Given the description of an element on the screen output the (x, y) to click on. 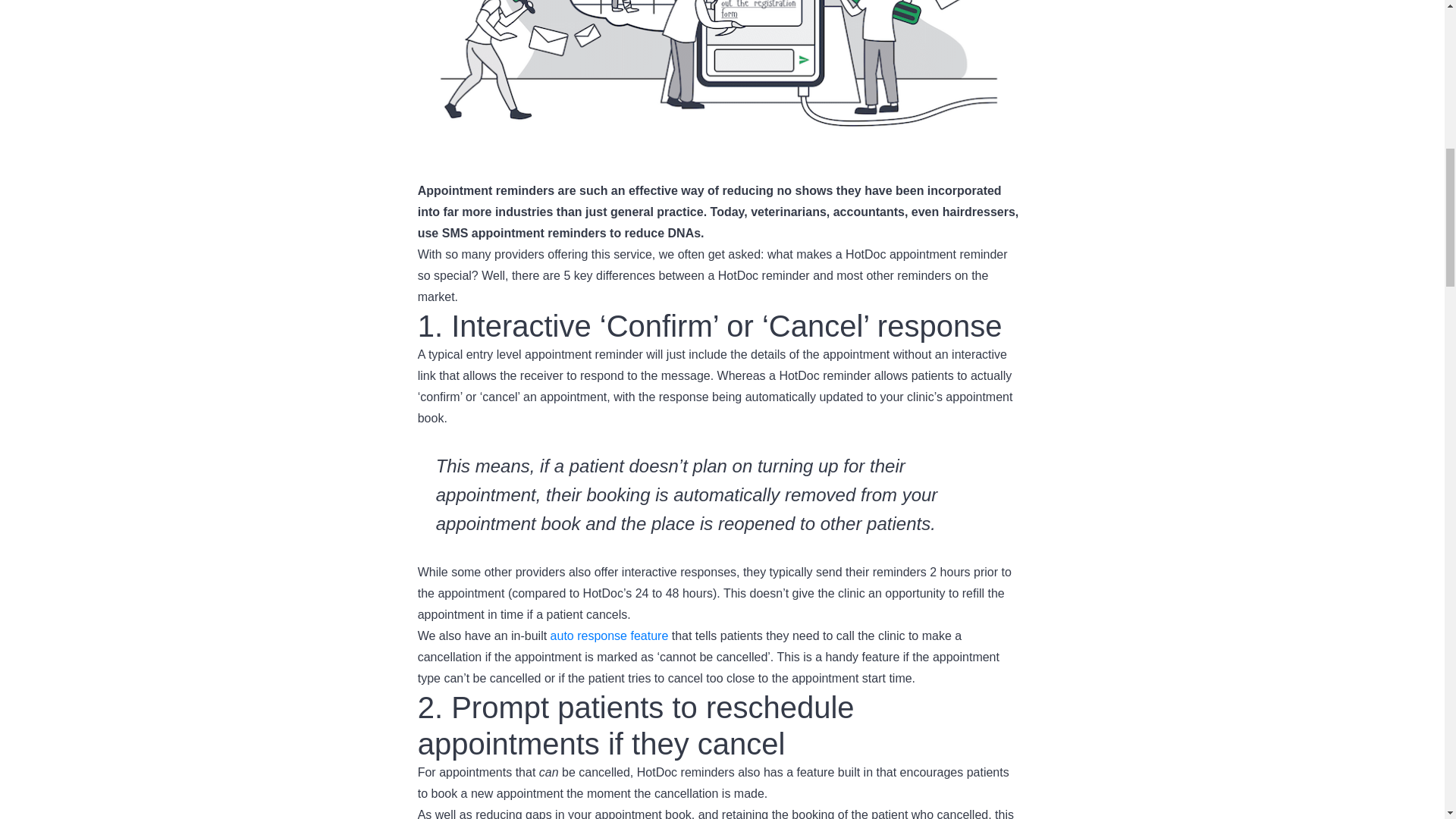
auto response feature (609, 635)
